Given the description of an element on the screen output the (x, y) to click on. 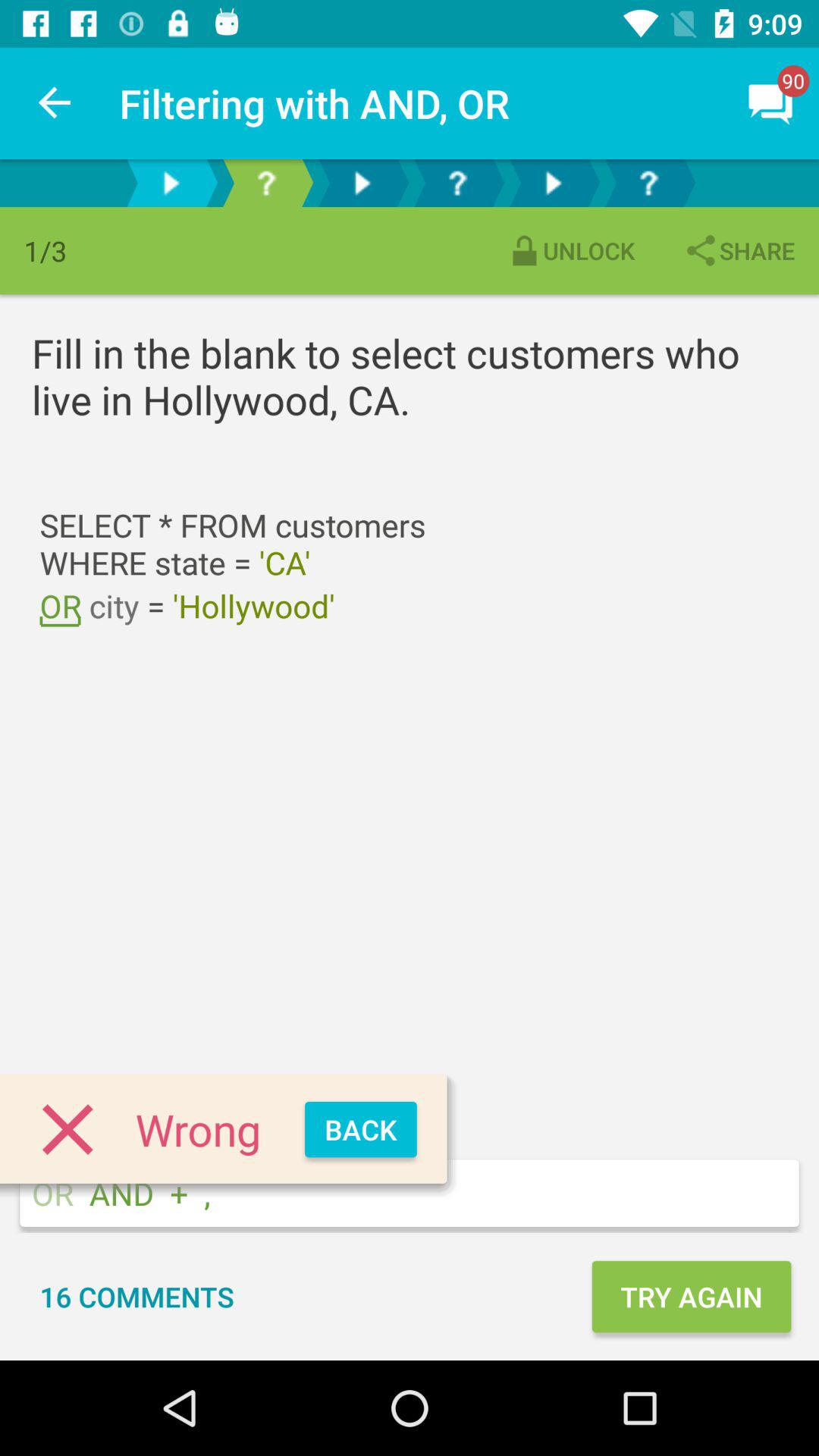
ask questions (648, 183)
